Given the description of an element on the screen output the (x, y) to click on. 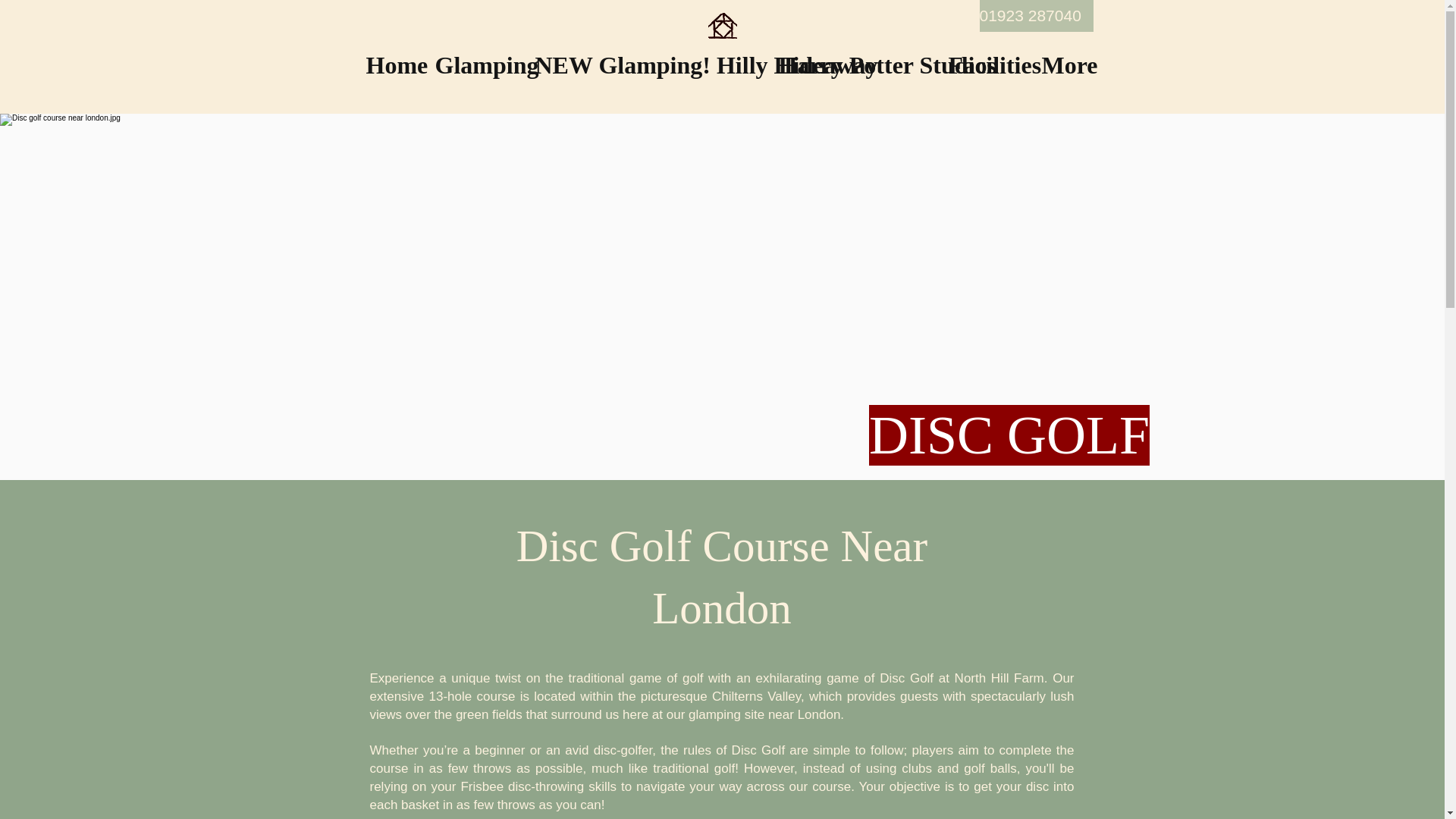
Facilities (982, 64)
01923 287040 (1036, 15)
Home (389, 64)
Glamping (472, 64)
NEW Glamping! Hilly Hideaway (644, 64)
Harry Potter Studios (850, 64)
